Given the description of an element on the screen output the (x, y) to click on. 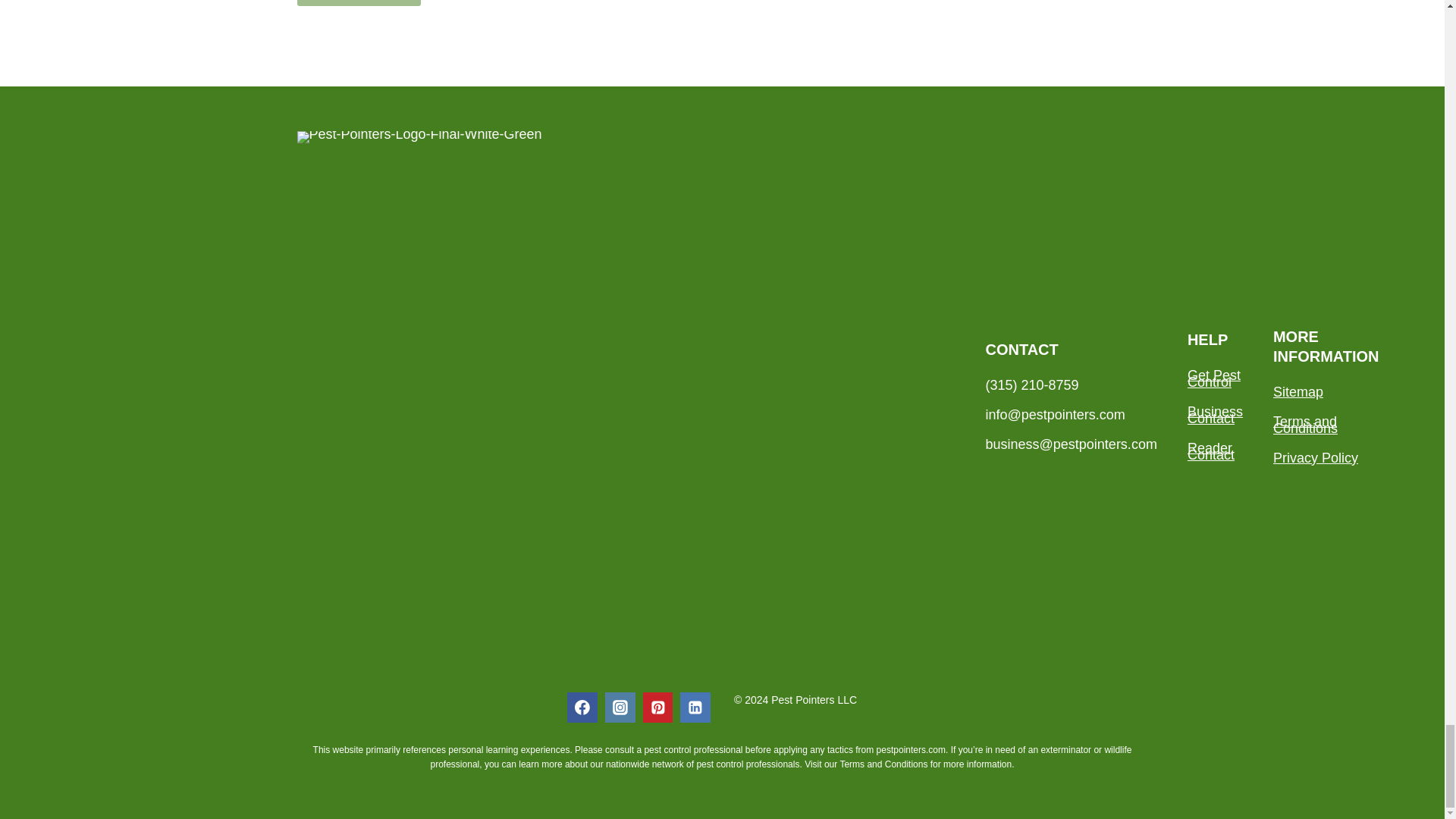
Post Comment (358, 12)
